Given the description of an element on the screen output the (x, y) to click on. 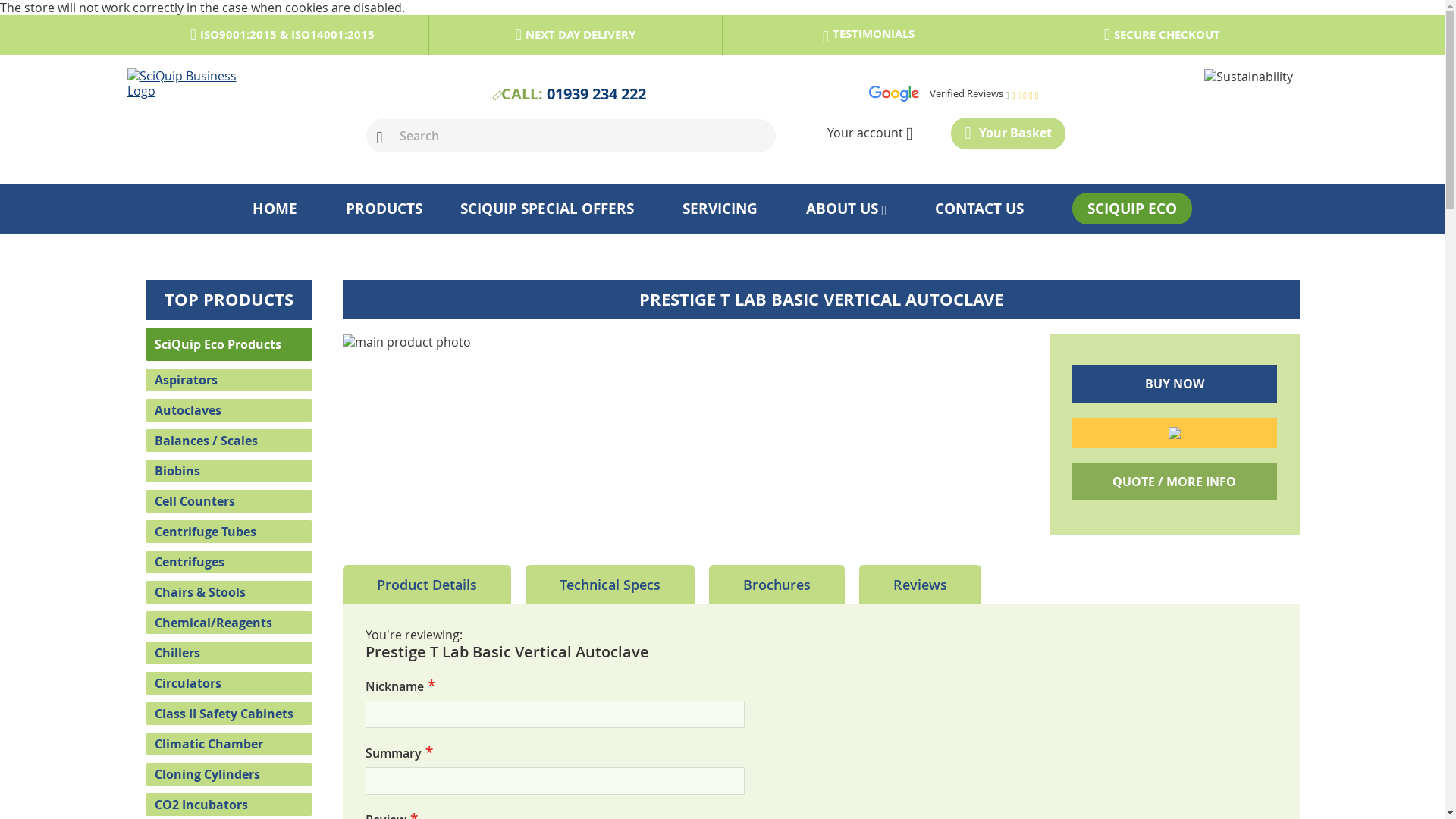
01939 234 222 (596, 93)
Your Basket (1007, 133)
PRODUCTS (380, 208)
Verified Reviews (954, 93)
BUY NOW (1173, 383)
HOME (275, 208)
SciQuip Business Logo (184, 82)
